Given the description of an element on the screen output the (x, y) to click on. 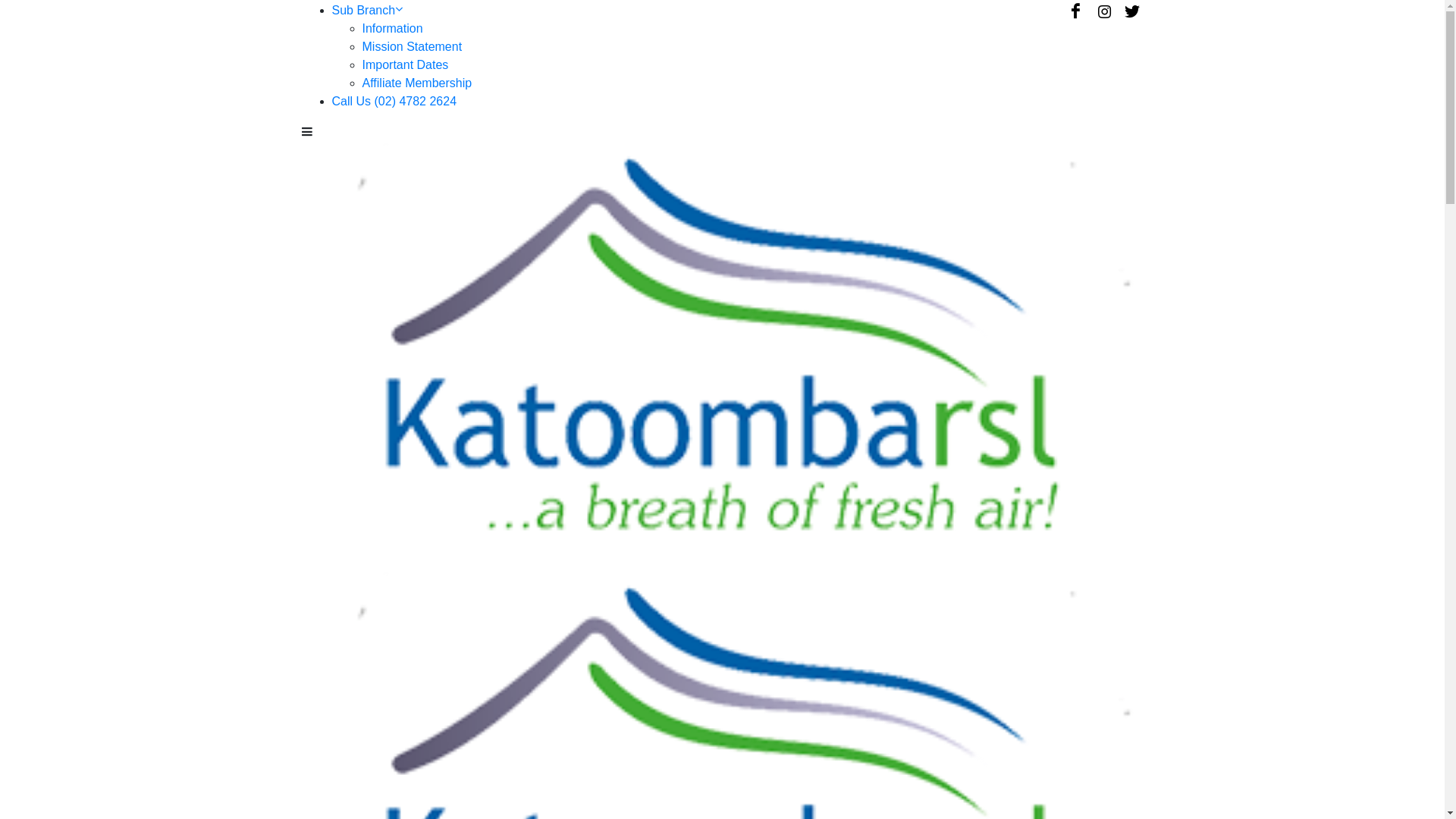
Affiliate Membership Element type: text (417, 82)
Mission Statement Element type: text (412, 46)
Call Us (02) 4782 2624 Element type: text (394, 100)
Important Dates Element type: text (405, 64)
Information Element type: text (392, 27)
Sub Branch Element type: text (367, 9)
